Given the description of an element on the screen output the (x, y) to click on. 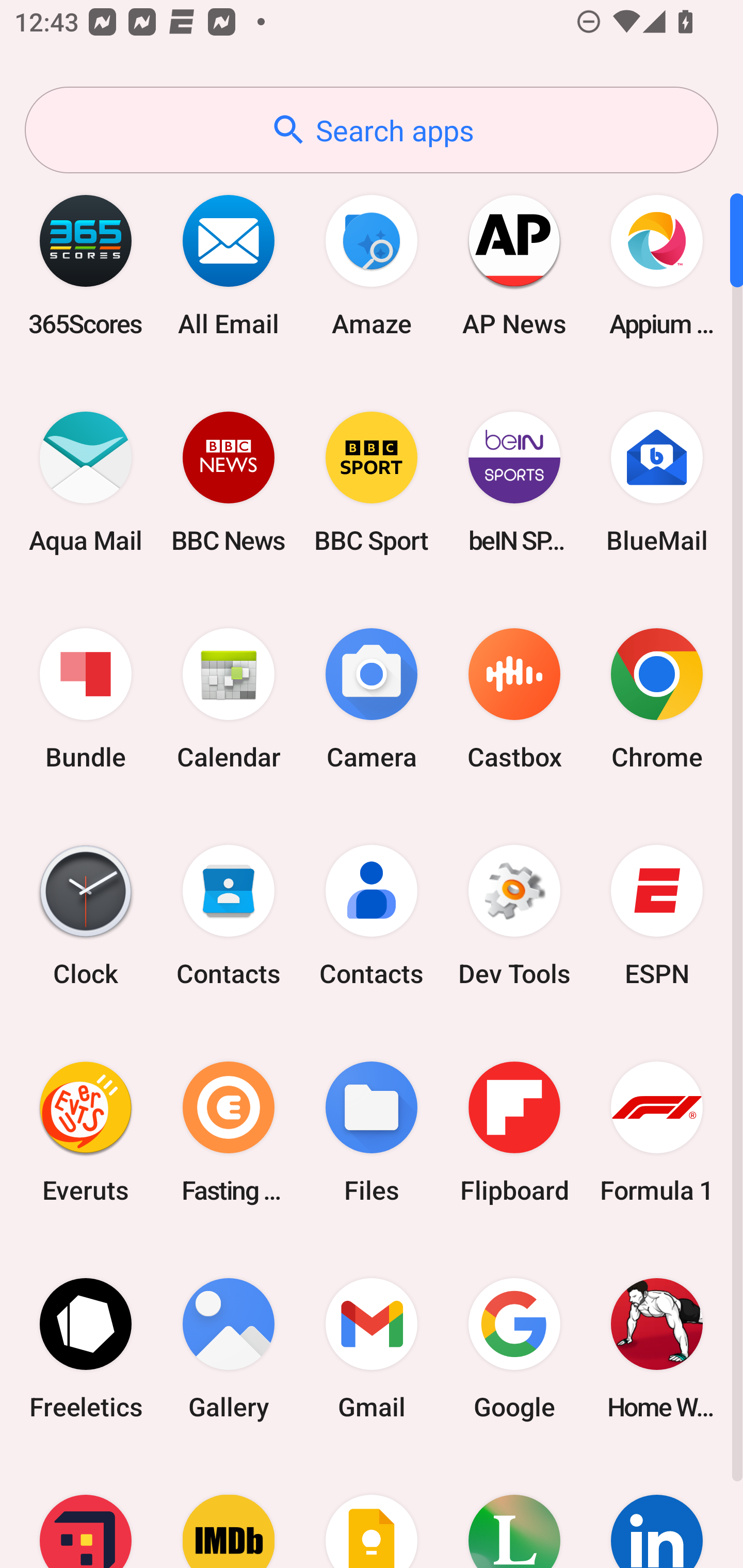
  Search apps (371, 130)
365Scores (85, 264)
All Email (228, 264)
Amaze (371, 264)
AP News (514, 264)
Appium Settings (656, 264)
Aqua Mail (85, 482)
BBC News (228, 482)
BBC Sport (371, 482)
beIN SPORTS (514, 482)
BlueMail (656, 482)
Bundle (85, 699)
Calendar (228, 699)
Camera (371, 699)
Castbox (514, 699)
Chrome (656, 699)
Clock (85, 915)
Contacts (228, 915)
Contacts (371, 915)
Dev Tools (514, 915)
ESPN (656, 915)
Everuts (85, 1131)
Fasting Coach (228, 1131)
Files (371, 1131)
Flipboard (514, 1131)
Formula 1 (656, 1131)
Freeletics (85, 1348)
Gallery (228, 1348)
Gmail (371, 1348)
Google (514, 1348)
Home Workout (656, 1348)
Hotels.com (85, 1512)
IMDb (228, 1512)
Keep Notes (371, 1512)
Lifesum (514, 1512)
LinkedIn (656, 1512)
